Given the description of an element on the screen output the (x, y) to click on. 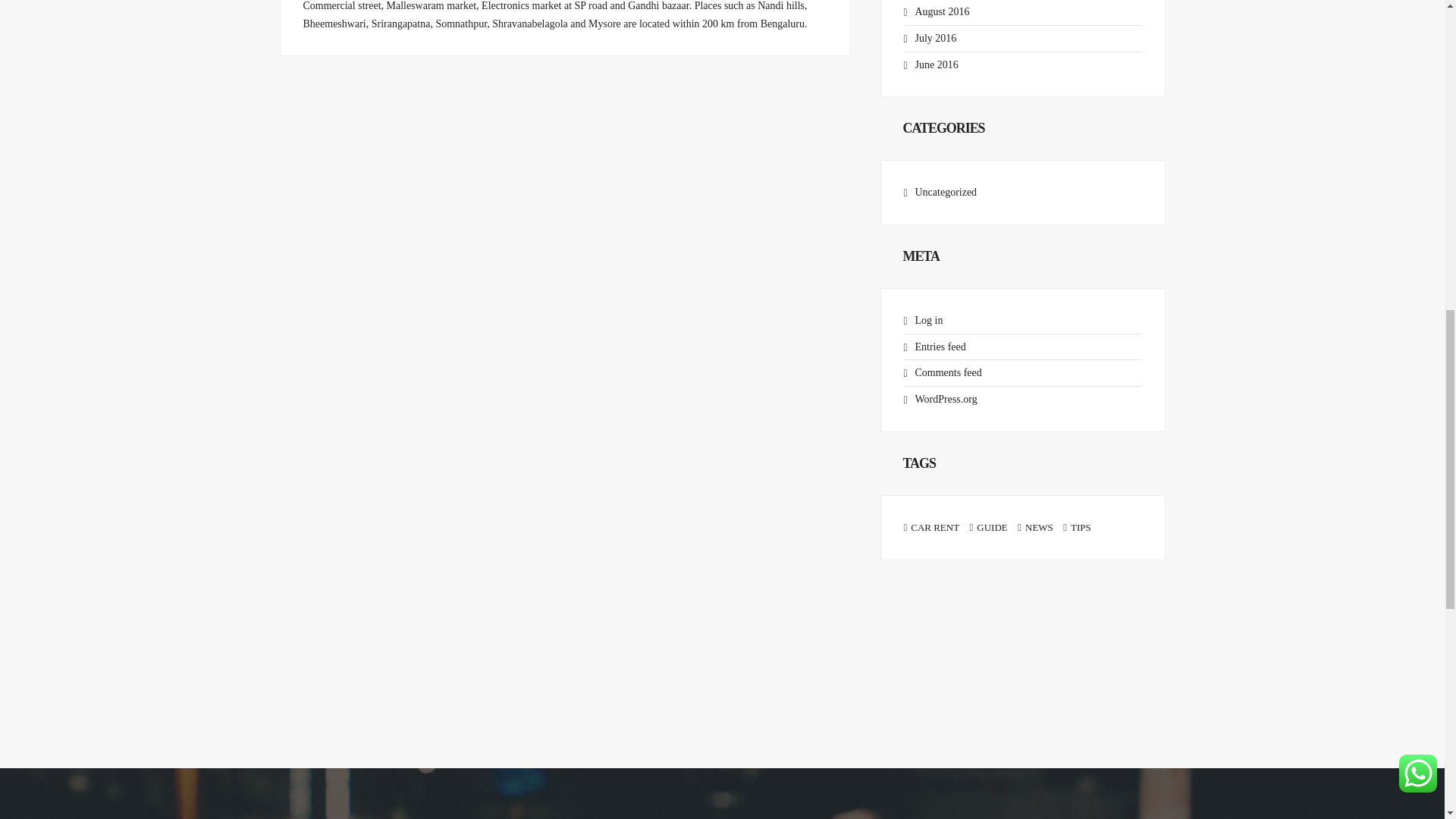
June 2016 (936, 64)
August 2016 (941, 11)
Log in (928, 319)
Entries feed (939, 346)
Uncategorized (945, 192)
Comments feed (947, 372)
July 2016 (935, 38)
